Given the description of an element on the screen output the (x, y) to click on. 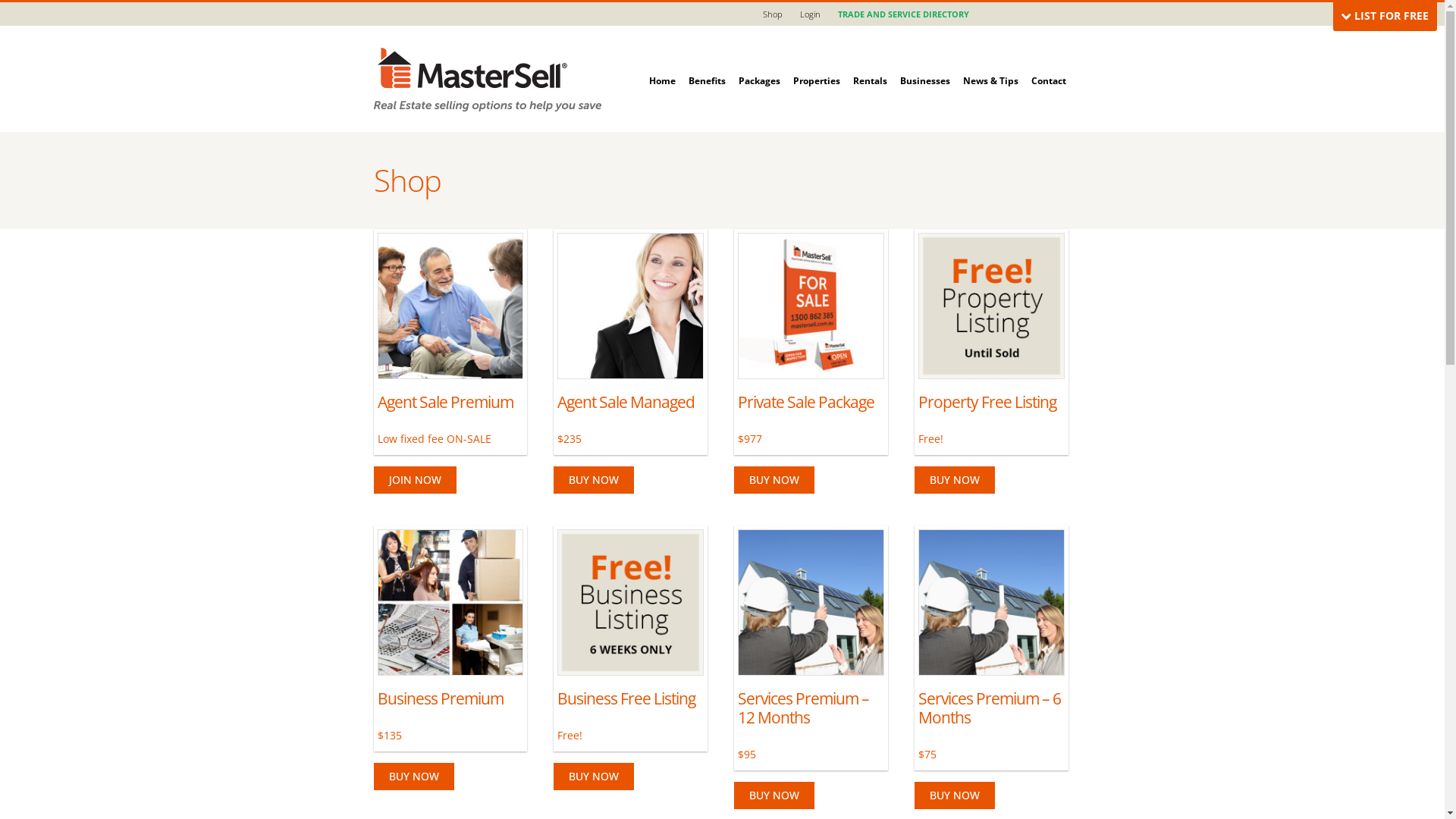
Property Free Listing
Free! Element type: text (991, 338)
TRADE AND SERVICE DIRECTORY Element type: text (902, 13)
Rentals Element type: text (869, 64)
Businesses Element type: text (924, 64)
 LIST FOR FREE Element type: text (1385, 15)
Business Premium
$135 Element type: text (450, 635)
JOIN NOW Element type: text (414, 479)
BUY NOW Element type: text (413, 776)
Benefits Element type: text (706, 64)
Business Free Listing
Free! Element type: text (630, 635)
Properties Element type: text (816, 64)
Packages Element type: text (759, 64)
Contact Element type: text (1048, 64)
News & Tips Element type: text (990, 64)
Shop Element type: text (772, 13)
Login Element type: text (809, 13)
Private Sale Package
$977 Element type: text (810, 338)
BUY NOW Element type: text (954, 479)
BUY NOW Element type: text (954, 795)
BUY NOW Element type: text (593, 479)
BUY NOW Element type: text (593, 776)
BUY NOW Element type: text (774, 479)
Agent Sale Premium
Low fixed fee ON-SALE Element type: text (450, 338)
BUY NOW Element type: text (774, 795)
Agent Sale Managed
$235 Element type: text (630, 338)
MasterSell Element type: hover (486, 78)
Home Element type: text (662, 64)
